Given the description of an element on the screen output the (x, y) to click on. 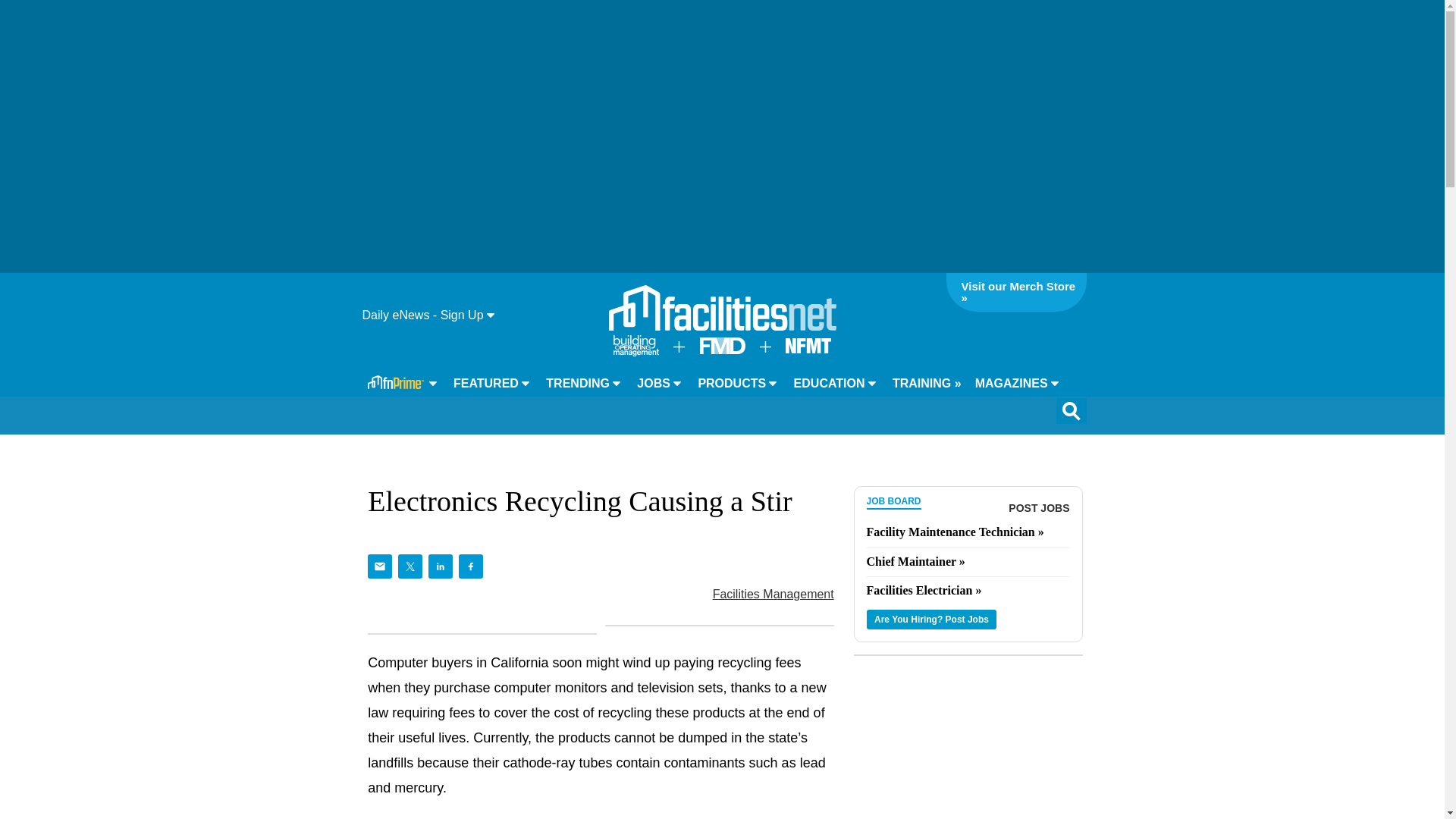
FacilitiesNet - Facilities Management News and Education (721, 308)
Daily eNews - Sign Up (427, 314)
FMD (721, 349)
BOM (635, 351)
NFMT (808, 349)
FEATURED (490, 383)
